Given the description of an element on the screen output the (x, y) to click on. 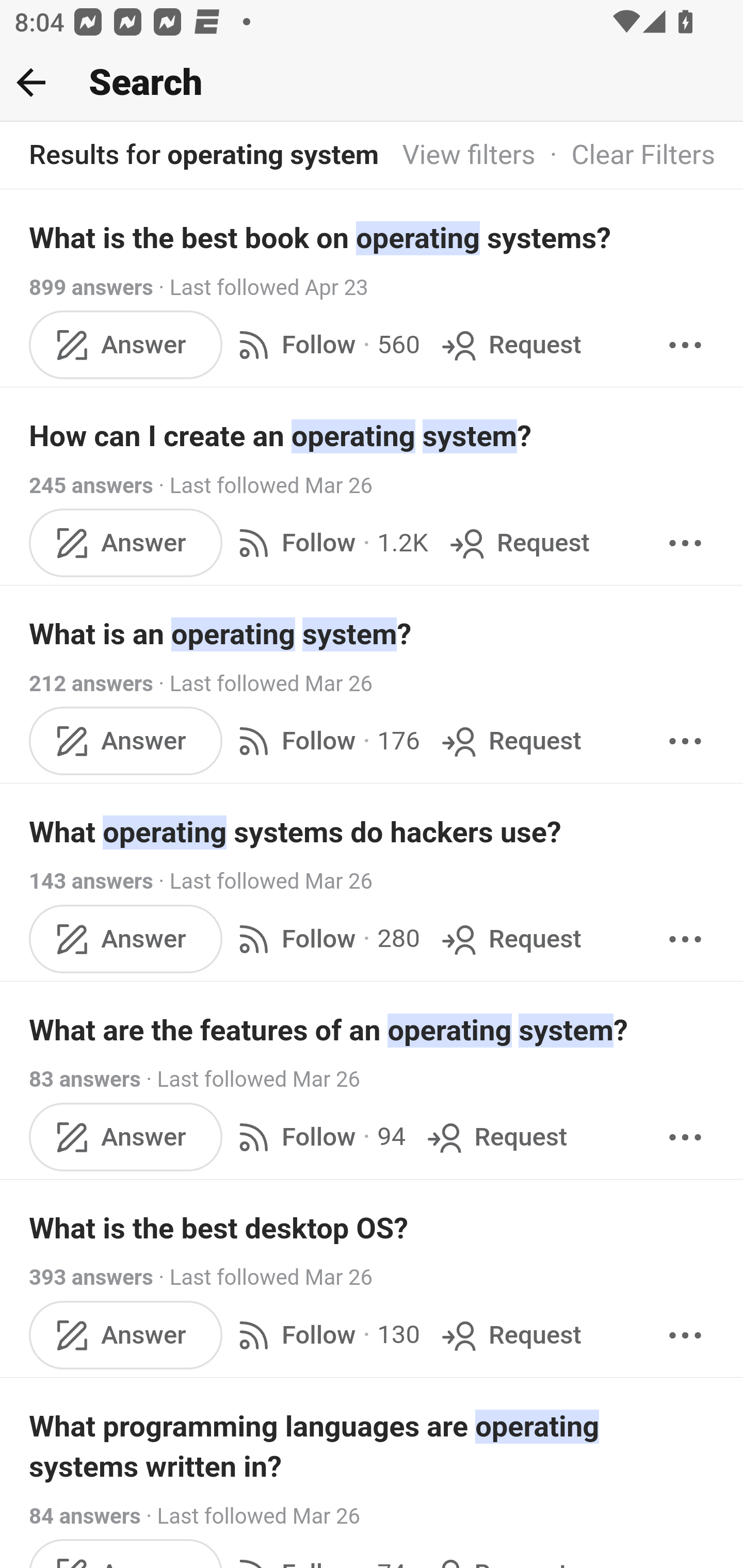
Back Search (371, 82)
Back (30, 82)
View filters (468, 155)
· Clear Filters · Clear Filters (625, 155)
What is the best book on operating systems? (372, 237)
899 answers 899  answers (90, 287)
Answer (125, 343)
Follow · 560 (324, 343)
Request (509, 343)
More (684, 343)
How can I create an operating system? (372, 436)
245 answers 245  answers (90, 484)
Answer (125, 543)
Follow · 1.2K (329, 543)
Request (517, 543)
More (684, 543)
What is an operating system? (372, 634)
212 answers 212  answers (90, 684)
Answer (125, 741)
Follow · 176 (324, 741)
Request (509, 741)
More (684, 741)
What operating systems do hackers use? (372, 832)
143 answers 143  answers (90, 881)
Answer (125, 939)
Follow · 280 (324, 939)
Request (509, 939)
More (684, 939)
What are the features of an operating system? (372, 1029)
83 answers 83  answers (84, 1079)
Answer (125, 1137)
Follow · 94 (317, 1137)
Request (495, 1137)
More (684, 1137)
What is the best desktop OS? (372, 1227)
393 answers 393  answers (90, 1277)
Answer (125, 1334)
Follow · 130 (324, 1334)
Request (509, 1334)
More (684, 1334)
